Given the description of an element on the screen output the (x, y) to click on. 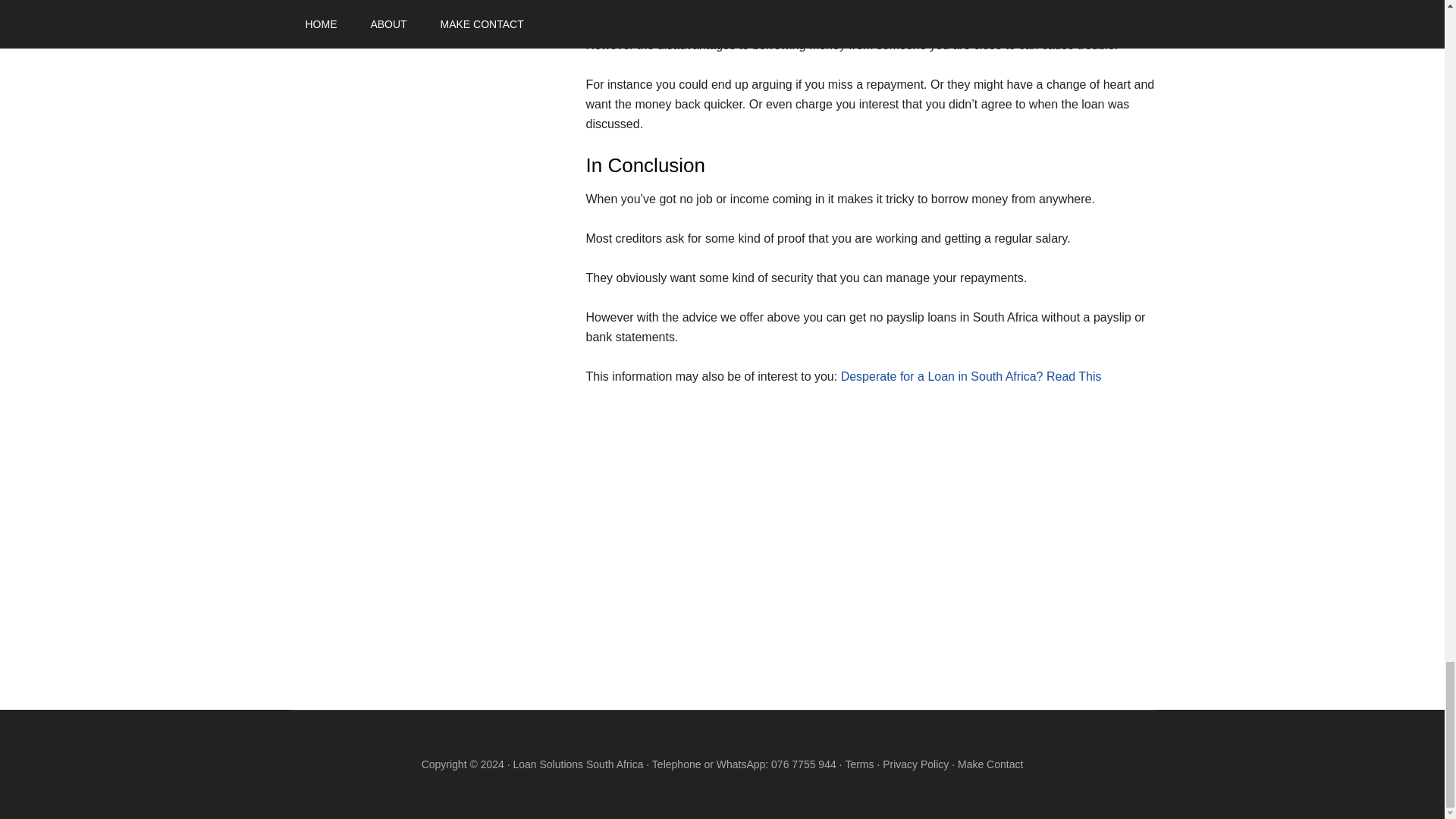
Make Contact (990, 764)
Terms (858, 764)
Desperate for a Loan in South Africa? Read This (971, 376)
Privacy Policy (915, 764)
